Given the description of an element on the screen output the (x, y) to click on. 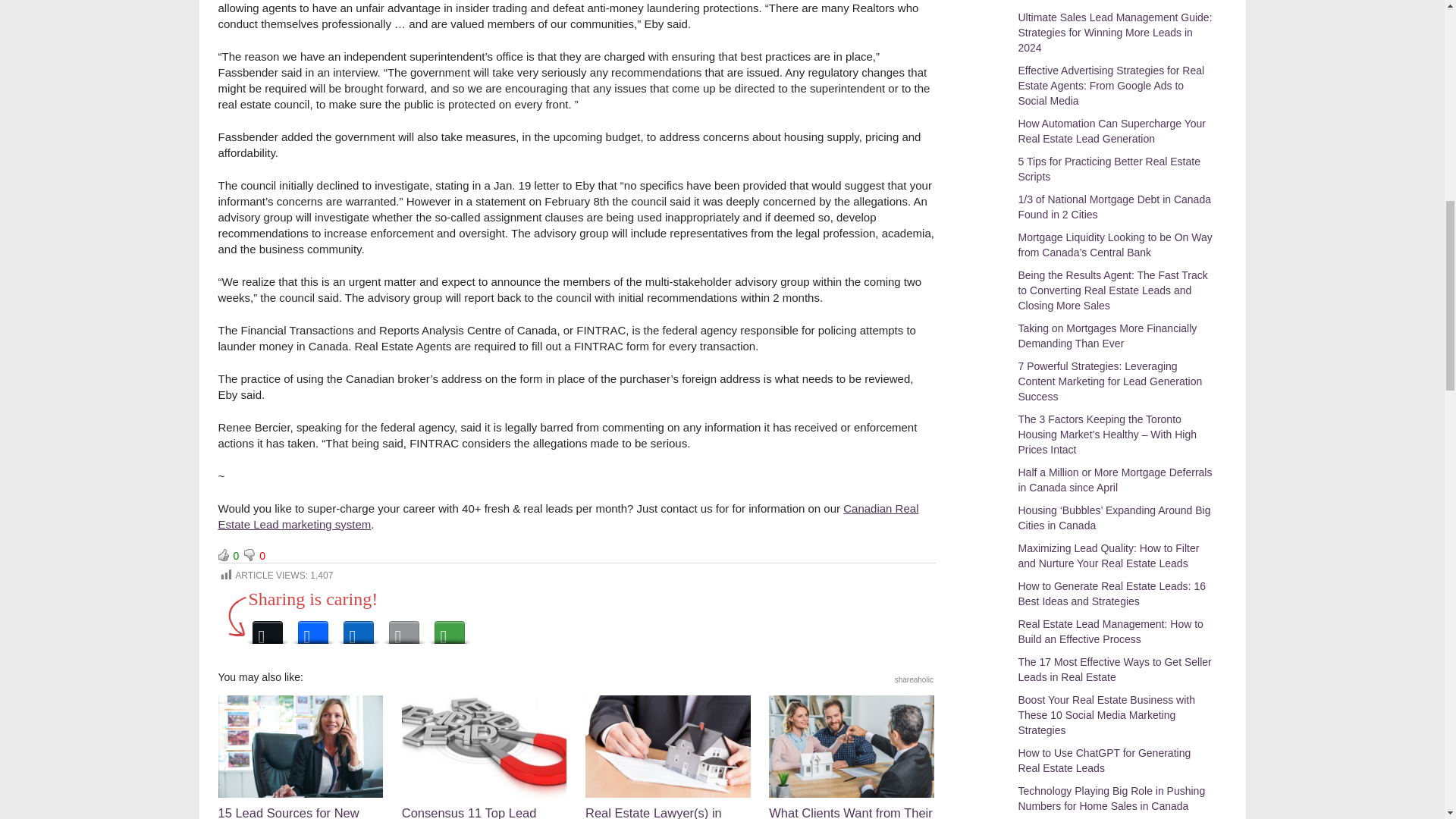
15 Lead Sources for New Real Estate Agents in Canada (301, 757)
Canadian Real Estate Lead marketing system (568, 516)
Like (223, 554)
Consensus 11 Top Lead Magnet Methods for Real Estate Agents (484, 757)
Unlike (249, 554)
shareaholic (914, 679)
Facebook (311, 628)
Consensus 11 Top Lead Magnet Methods for Real Estate Agents (484, 757)
What Clients Want from Their Real Estate Agent (851, 757)
What Clients Want from Their Real Estate Agent (851, 757)
Email This (403, 628)
15 Lead Sources for New Real Estate Agents in Canada (301, 757)
LinkedIn (357, 628)
More Options (448, 628)
